Given the description of an element on the screen output the (x, y) to click on. 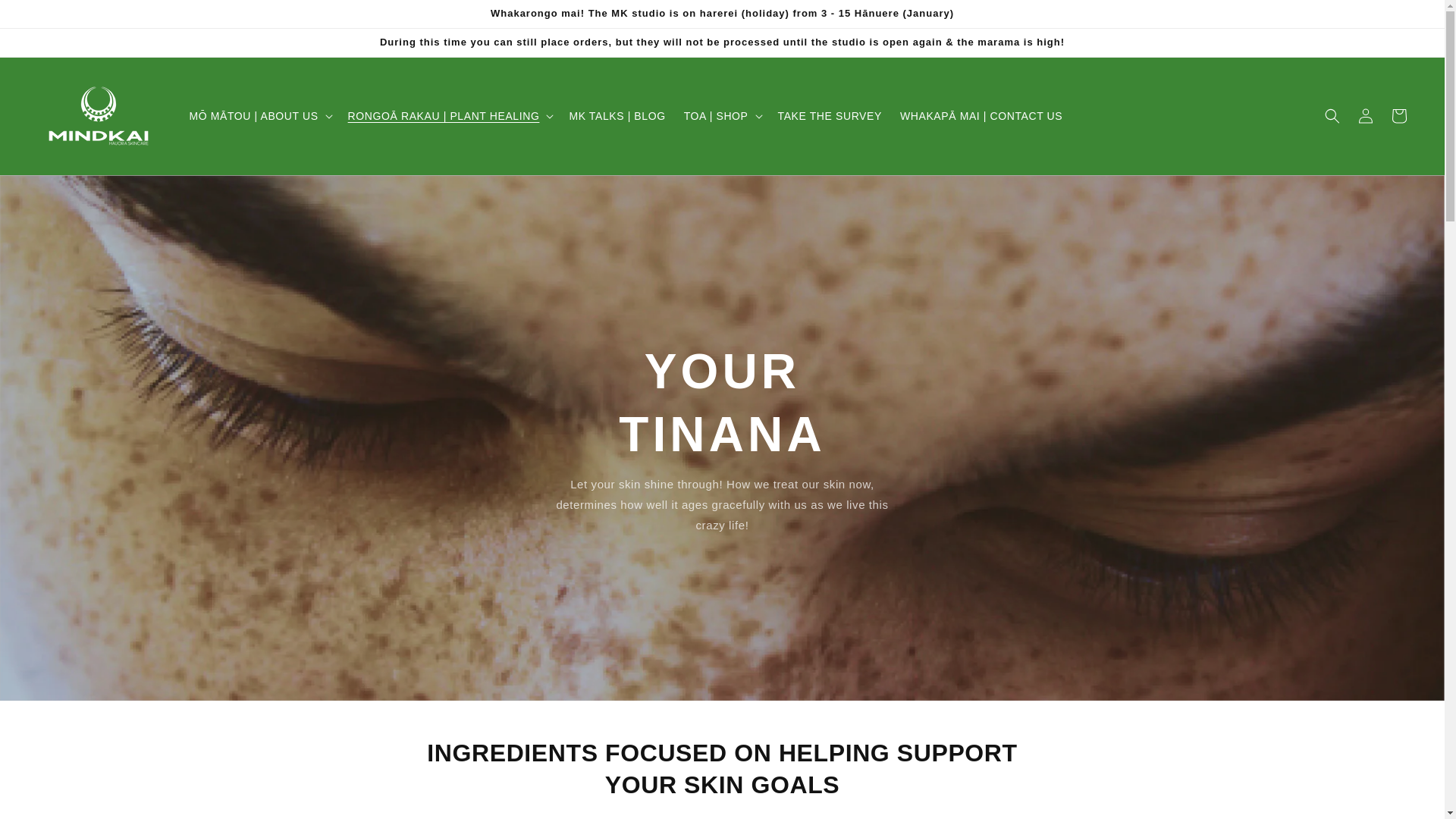
Skip to content (45, 17)
TAKE THE SURVEY (829, 115)
